Given the description of an element on the screen output the (x, y) to click on. 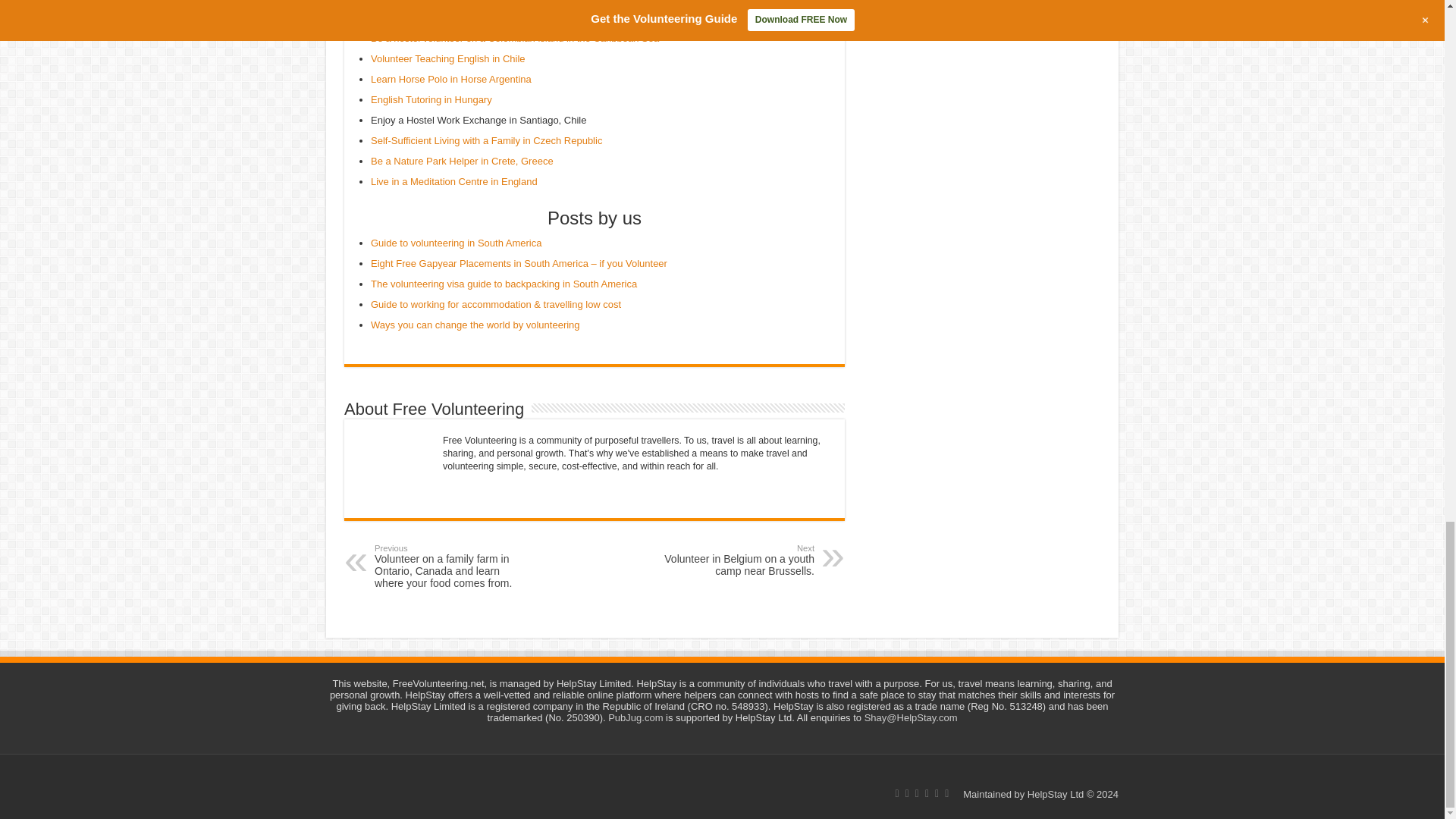
HelpStay Ltd (1055, 794)
